Given the description of an element on the screen output the (x, y) to click on. 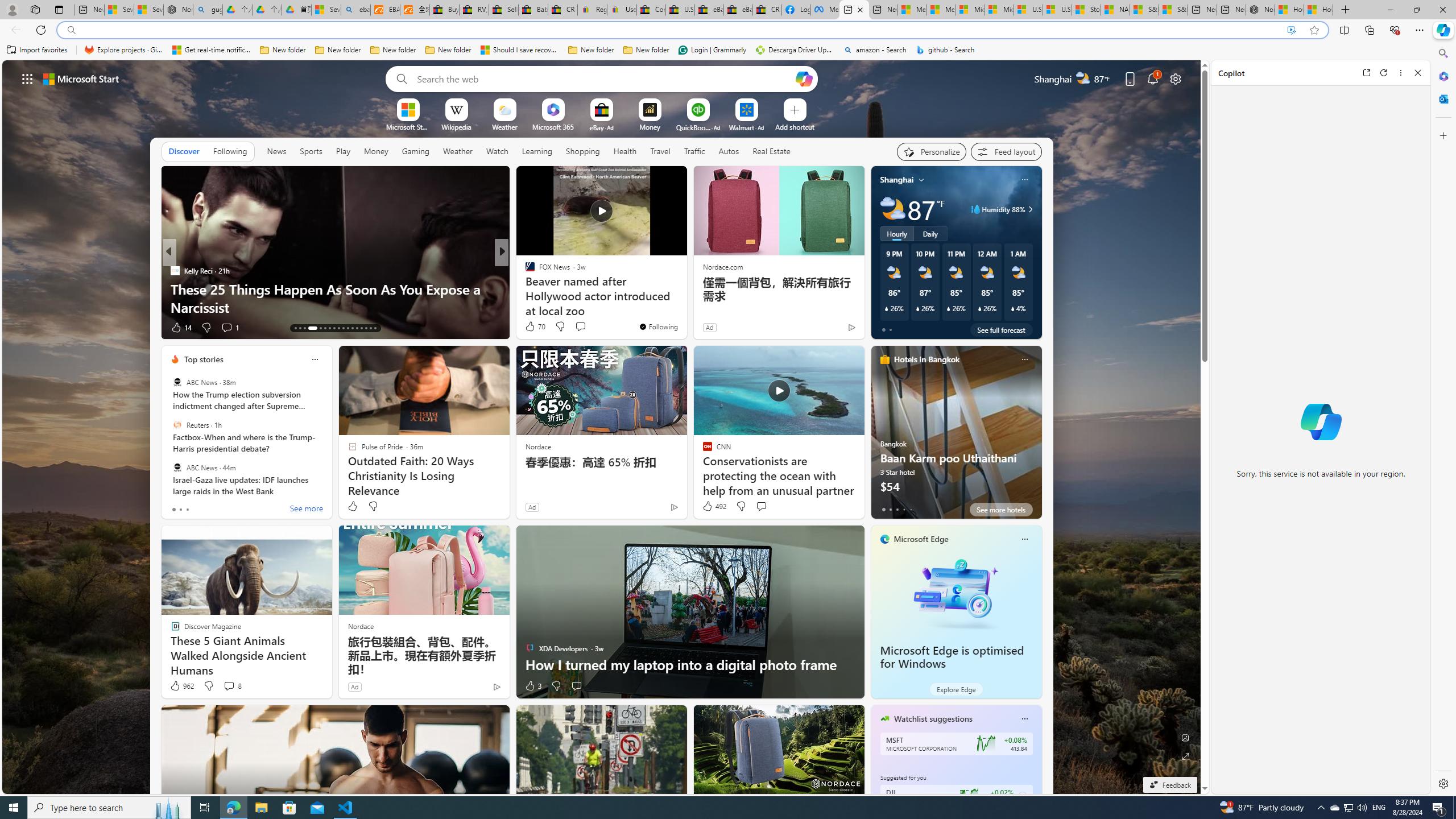
View comments 123 Comment (576, 327)
AutomationID: tab-25 (356, 328)
Reuters (176, 424)
AutomationID: tab-22 (343, 328)
Lifewire (524, 288)
Daily (929, 233)
tab-1 (889, 509)
Add a site (793, 126)
Real Wild (524, 288)
